Given the description of an element on the screen output the (x, y) to click on. 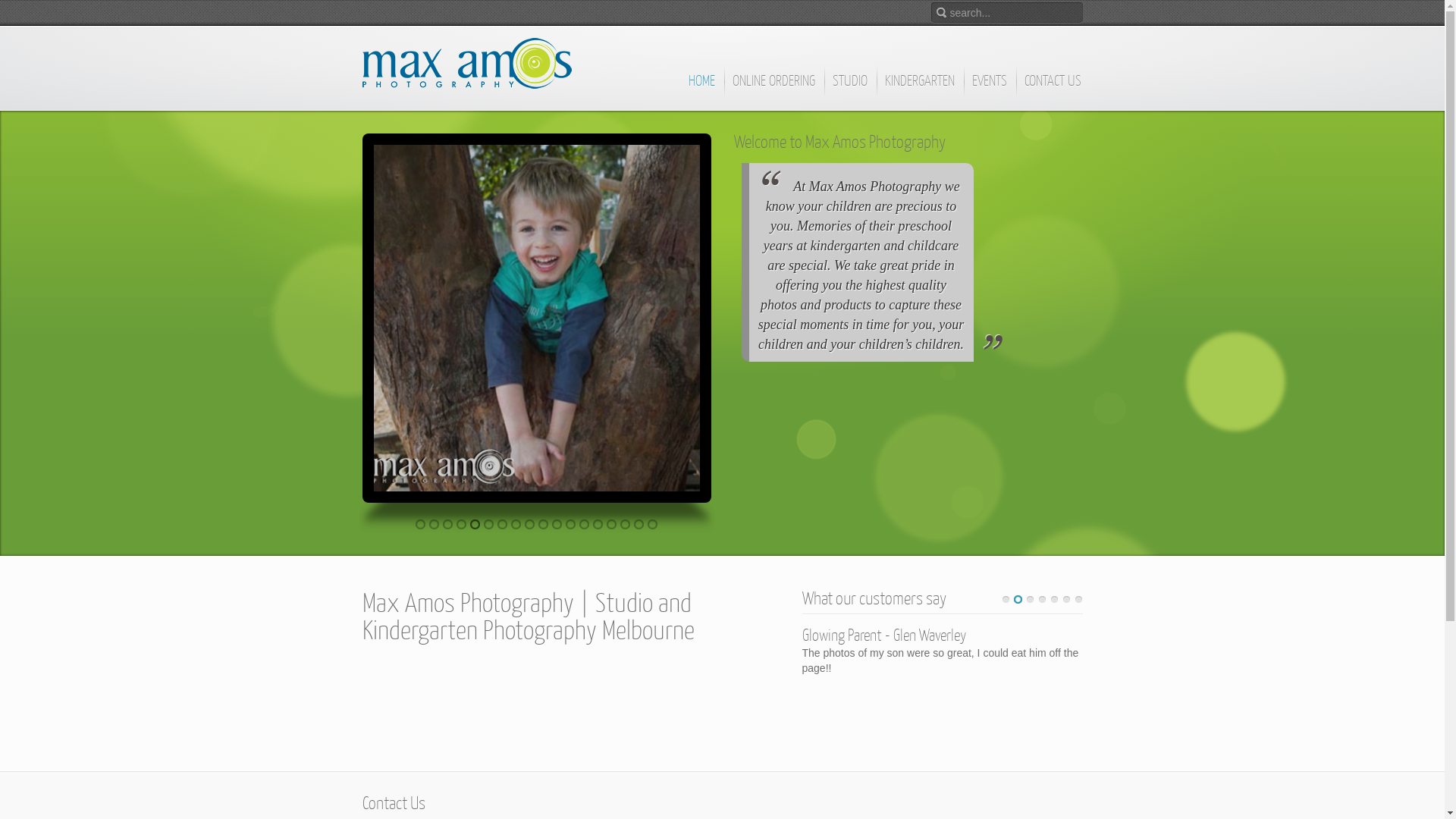
STUDIO Element type: text (849, 87)
KINDERGARTEN Element type: text (919, 87)
Reset Element type: text (3, 3)
CONTACT US Element type: text (1053, 87)
ONLINE ORDERING Element type: text (773, 87)
EVENTS Element type: text (989, 87)
HOME Element type: text (701, 87)
